Given the description of an element on the screen output the (x, y) to click on. 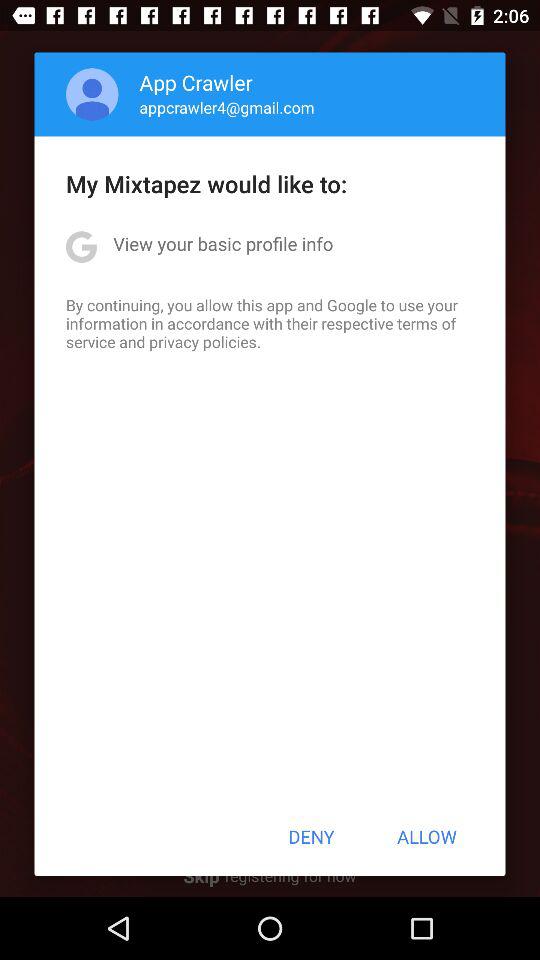
turn on app next to the app crawler (92, 94)
